Given the description of an element on the screen output the (x, y) to click on. 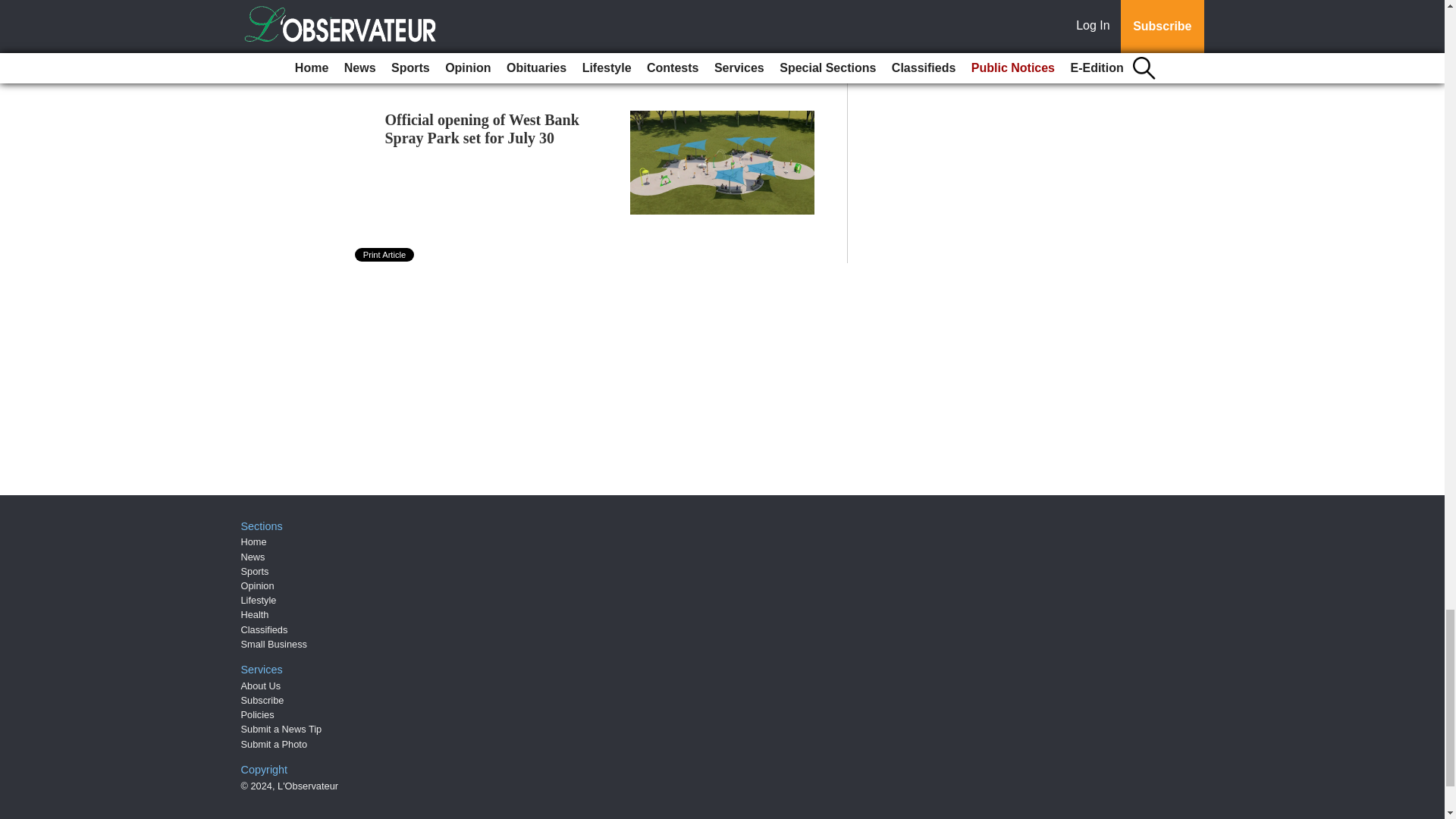
Official opening of West Bank Spray Park set for July 30 (482, 128)
Official opening of West Bank Spray Park set for July 30 (482, 128)
Print Article (384, 254)
